Given the description of an element on the screen output the (x, y) to click on. 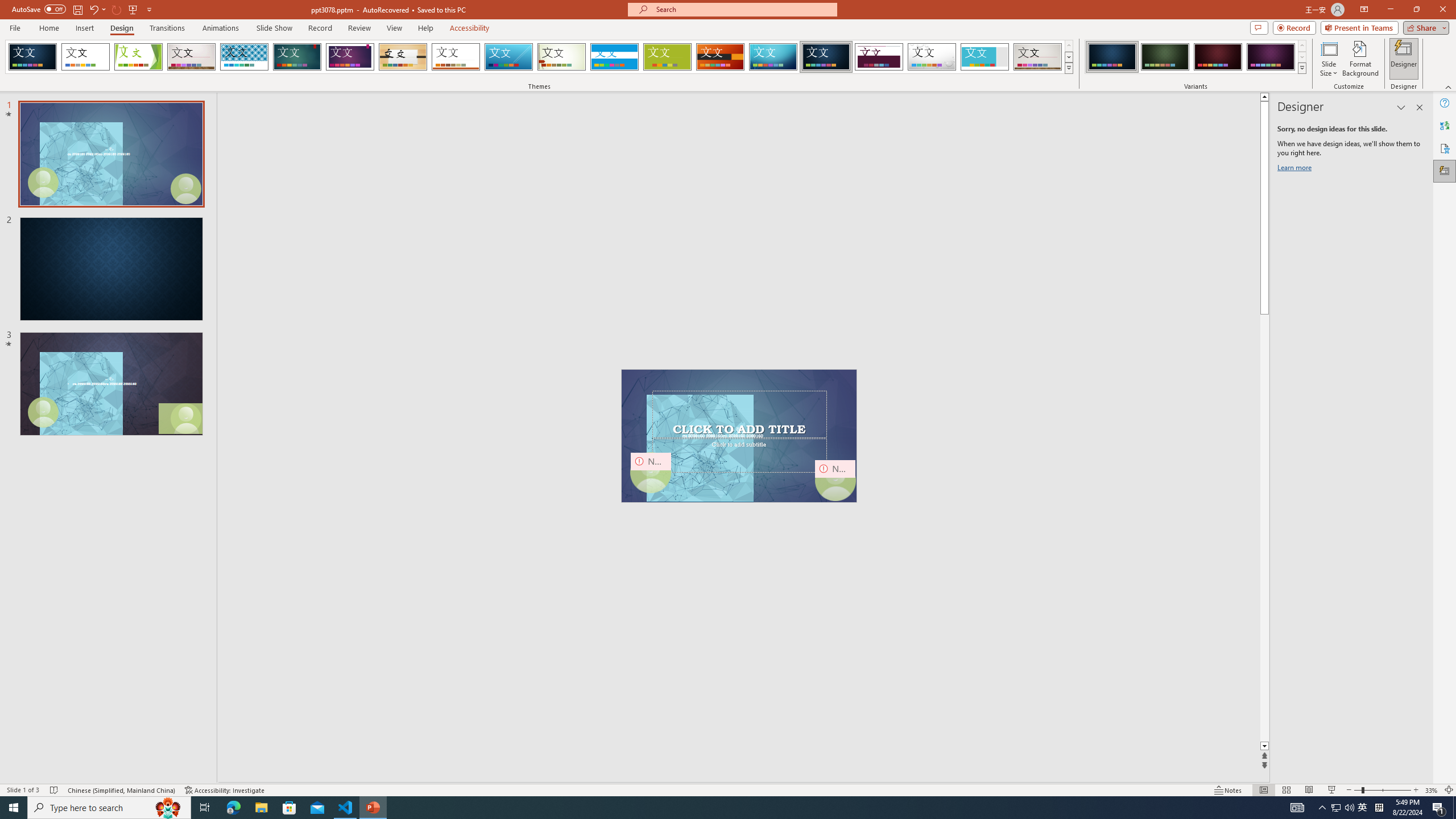
Banded (614, 56)
Camera 9, No camera detected. (650, 472)
Integral (244, 56)
